Given the description of an element on the screen output the (x, y) to click on. 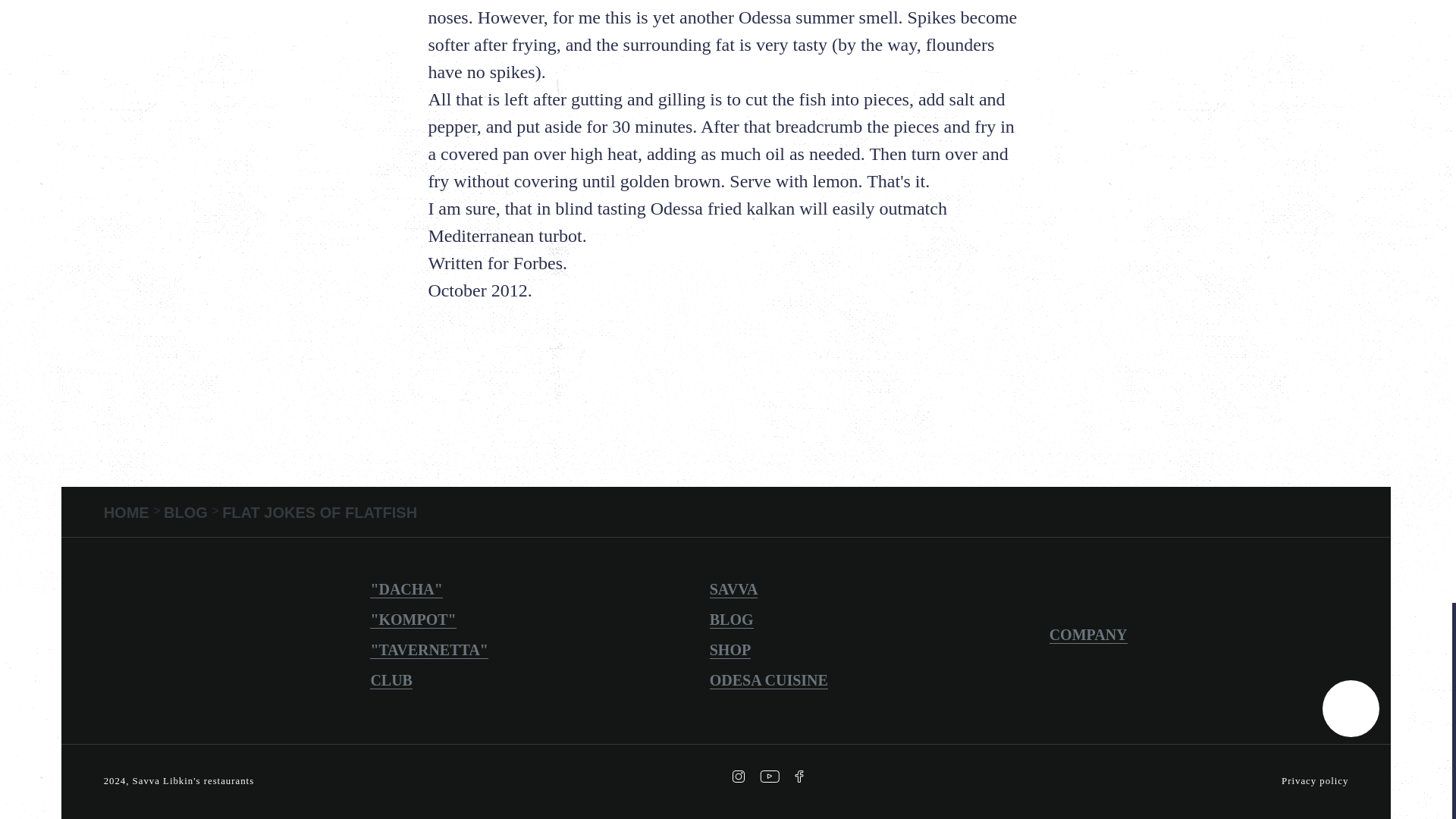
FLAT JOKES OF FLATFISH (319, 512)
BLOG (732, 619)
ODESA CUISINE (769, 680)
BLOG (187, 512)
HOME (128, 512)
"DACHA" (405, 589)
SHOP (730, 650)
"TAVERNETTA" (428, 650)
COMPANY (1087, 634)
CLUB (390, 680)
